Given the description of an element on the screen output the (x, y) to click on. 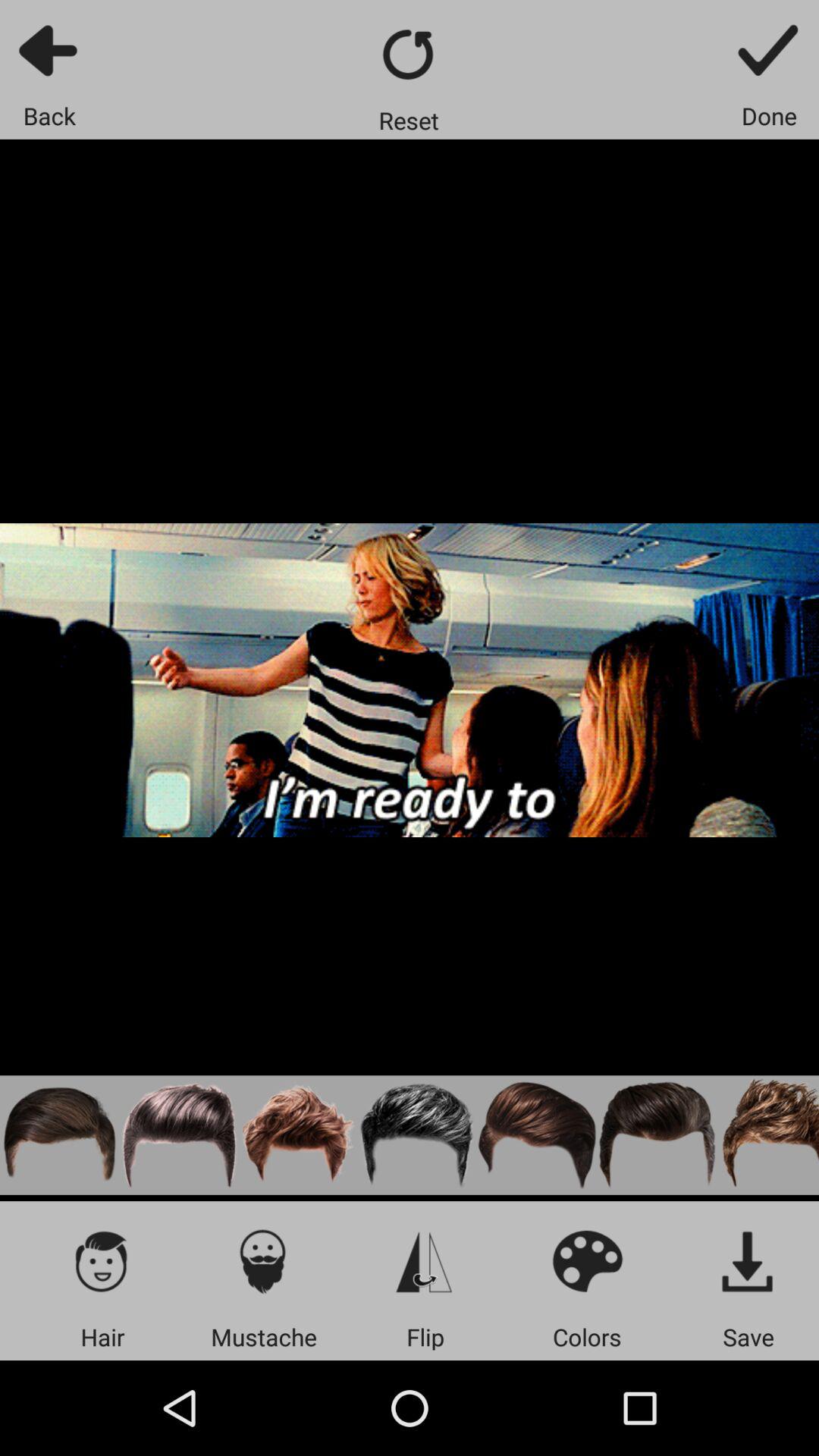
select hair filter (178, 1134)
